Given the description of an element on the screen output the (x, y) to click on. 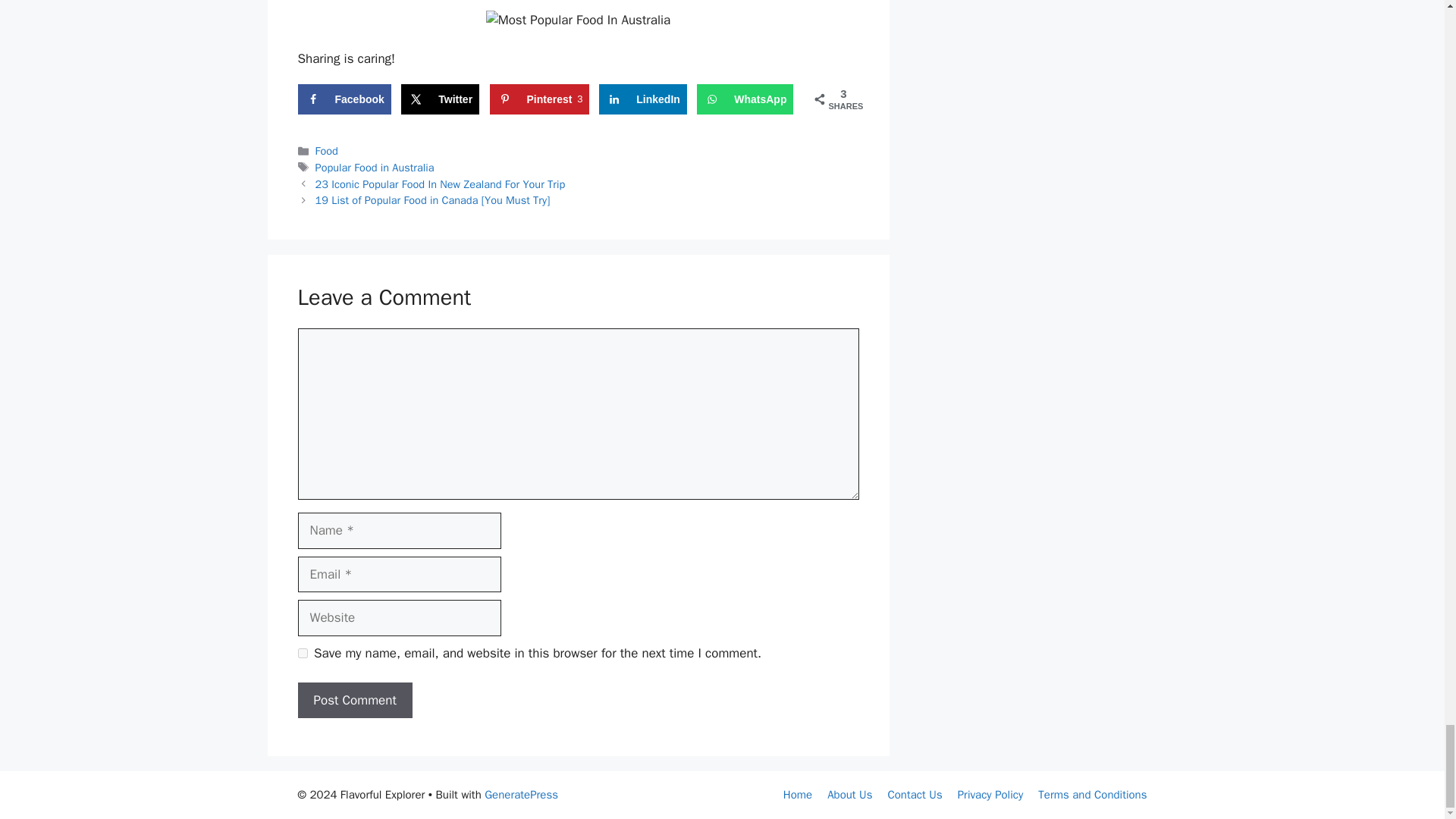
yes (302, 653)
Save to Pinterest (539, 99)
Post Comment (354, 700)
Share on Facebook (343, 99)
WhatsApp (745, 99)
Food (539, 99)
Share on WhatsApp (326, 151)
Popular Food in Australia (745, 99)
Share on X (374, 167)
